Given the description of an element on the screen output the (x, y) to click on. 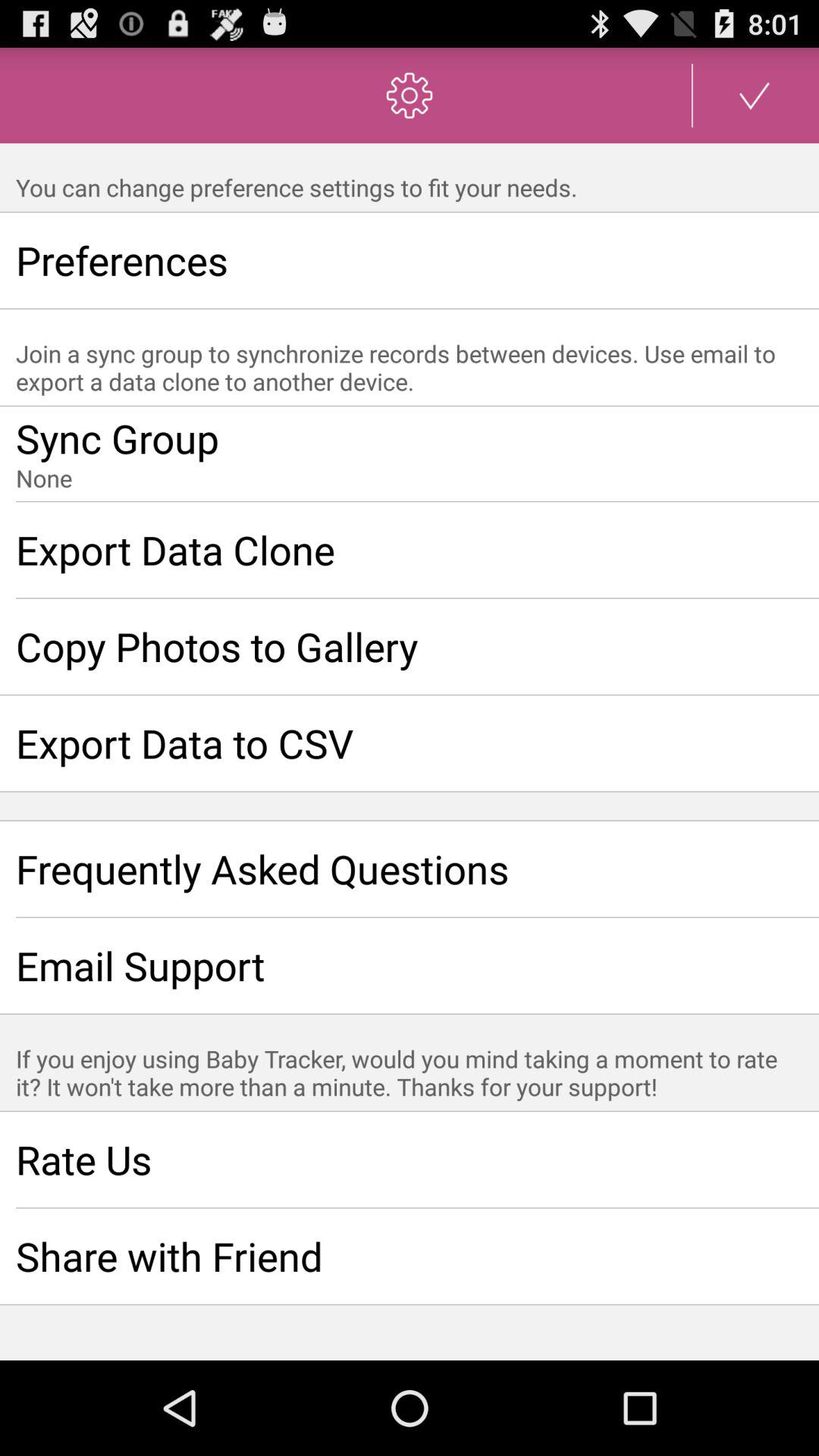
open rate us item (409, 1159)
